Given the description of an element on the screen output the (x, y) to click on. 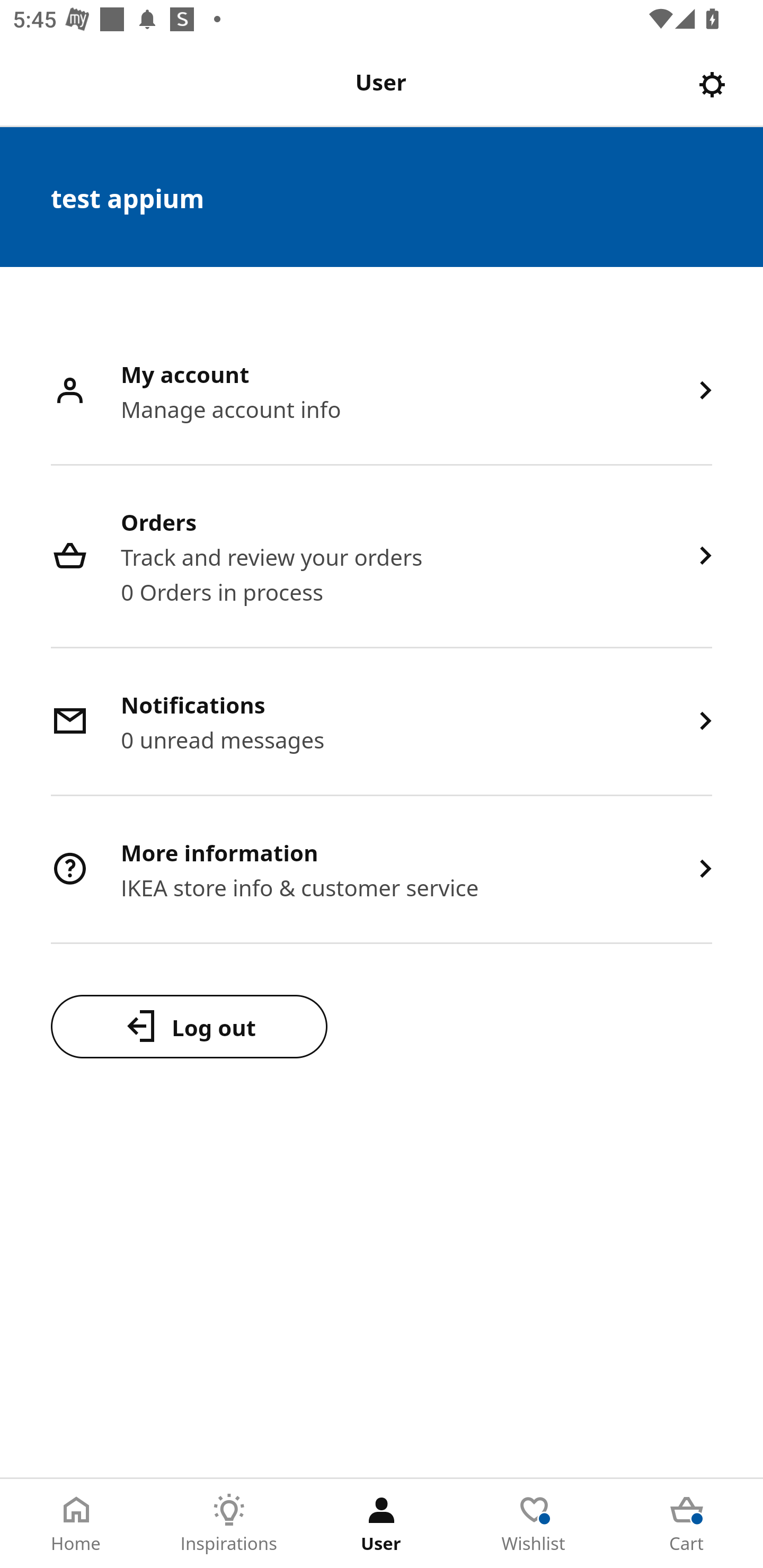
My account
Manage account info (381, 391)
Notifications
0 unread messages (381, 722)
Log out (189, 1026)
Home
Tab 1 of 5 (76, 1522)
Inspirations
Tab 2 of 5 (228, 1522)
User
Tab 3 of 5 (381, 1522)
Wishlist
Tab 4 of 5 (533, 1522)
Cart
Tab 5 of 5 (686, 1522)
